Given the description of an element on the screen output the (x, y) to click on. 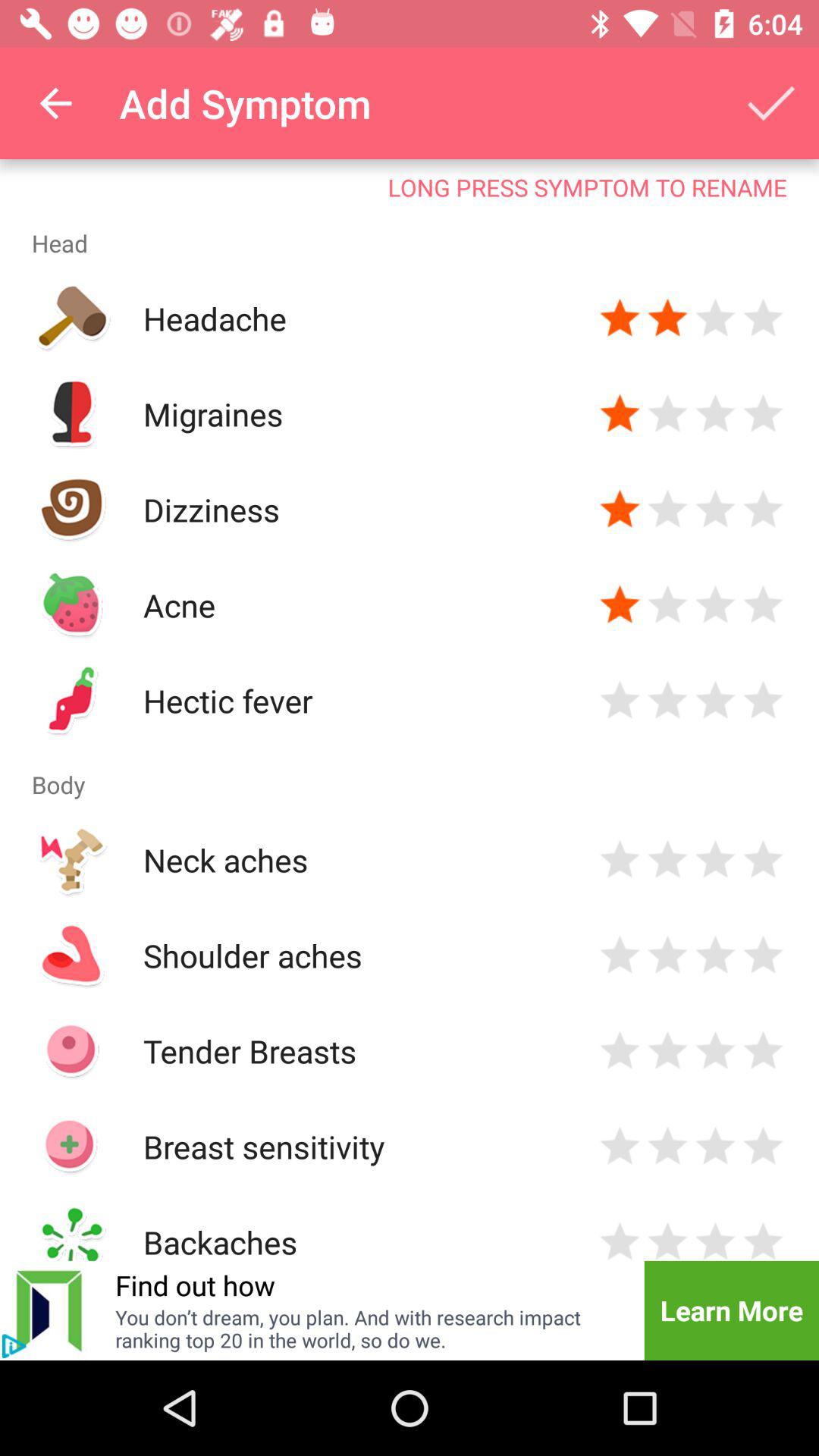
add minimal hectic fever (619, 700)
